Given the description of an element on the screen output the (x, y) to click on. 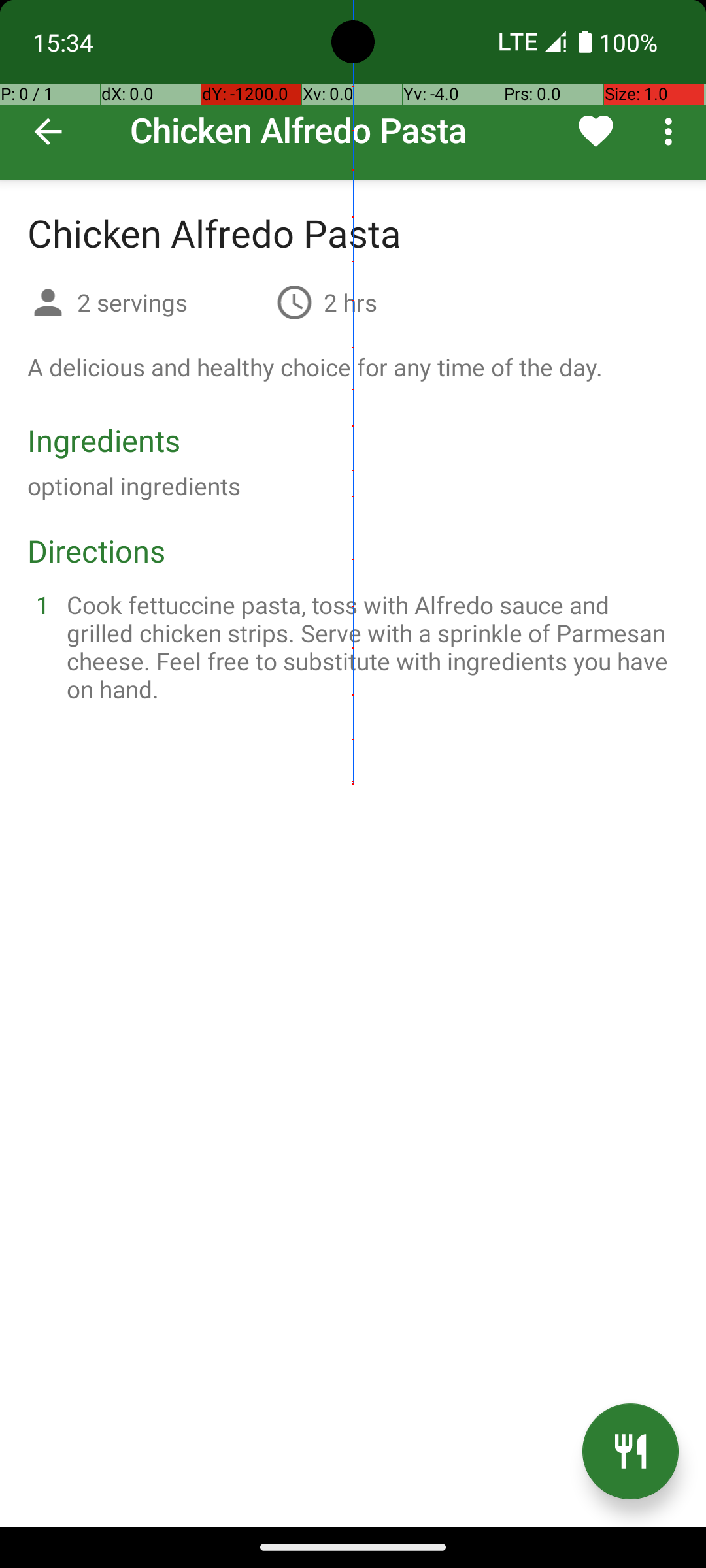
optional ingredients Element type: android.widget.TextView (133, 485)
Cook fettuccine pasta, toss with Alfredo sauce and grilled chicken strips. Serve with a sprinkle of Parmesan cheese. Feel free to substitute with ingredients you have on hand. Element type: android.widget.TextView (368, 646)
